Given the description of an element on the screen output the (x, y) to click on. 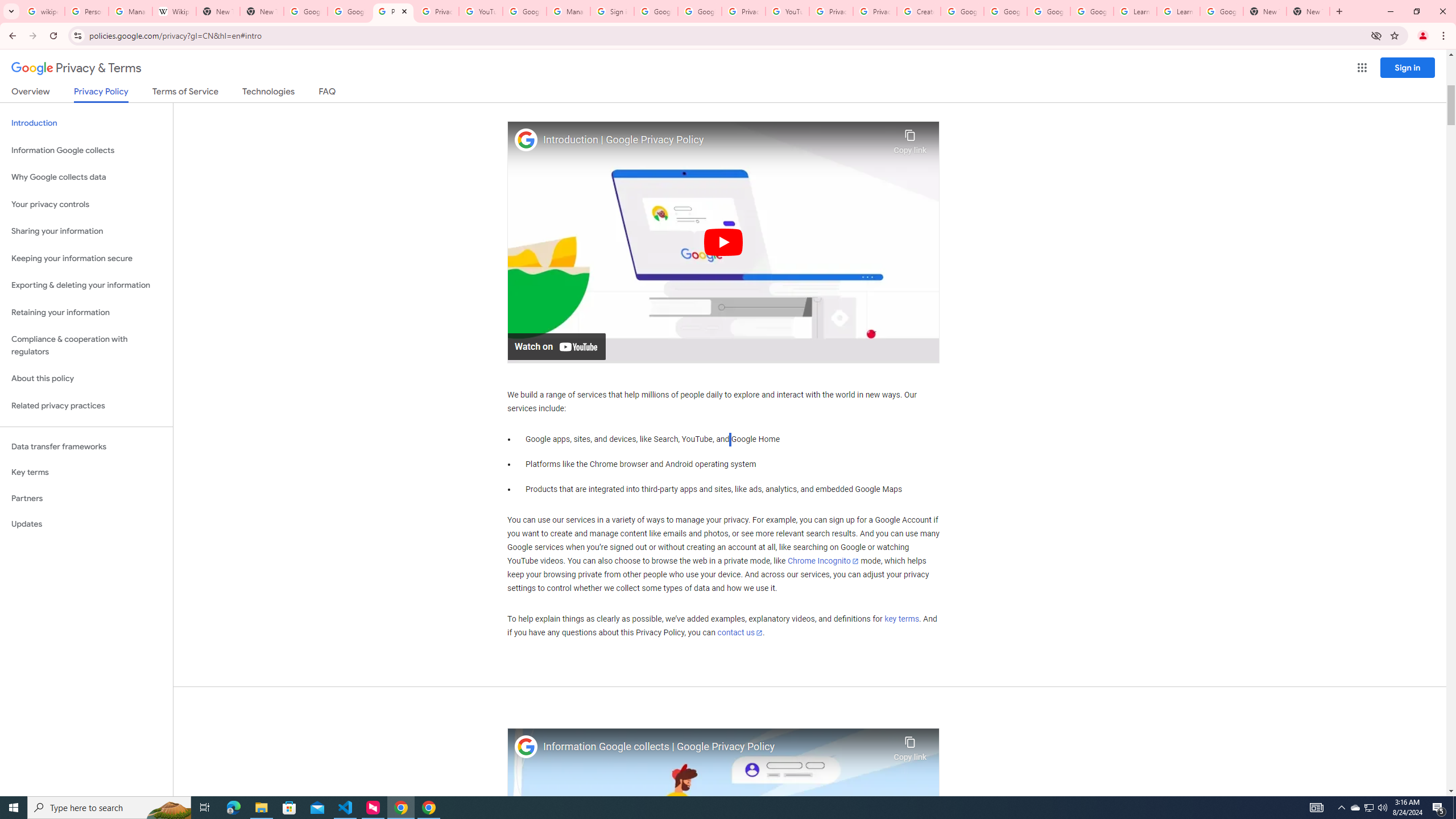
About this policy (86, 379)
Related privacy practices (86, 405)
Manage your Location History - Google Search Help (130, 11)
